Given the description of an element on the screen output the (x, y) to click on. 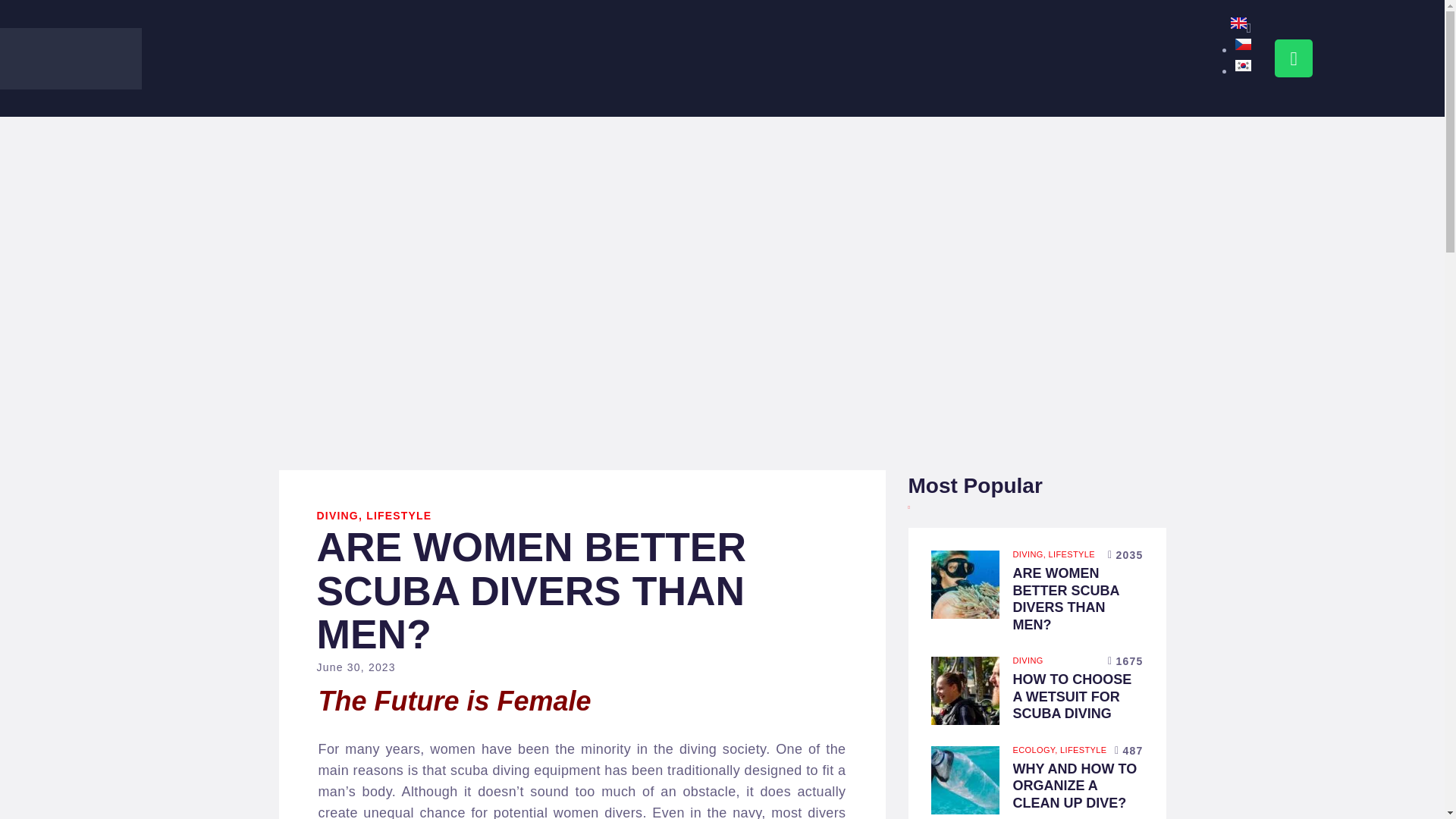
View all posts in Ecology (1037, 749)
View all posts in Lifestyle (1072, 553)
View all posts in Lifestyle (1082, 749)
View all posts in Diving (1028, 660)
View all posts in Diving (1030, 553)
